Given the description of an element on the screen output the (x, y) to click on. 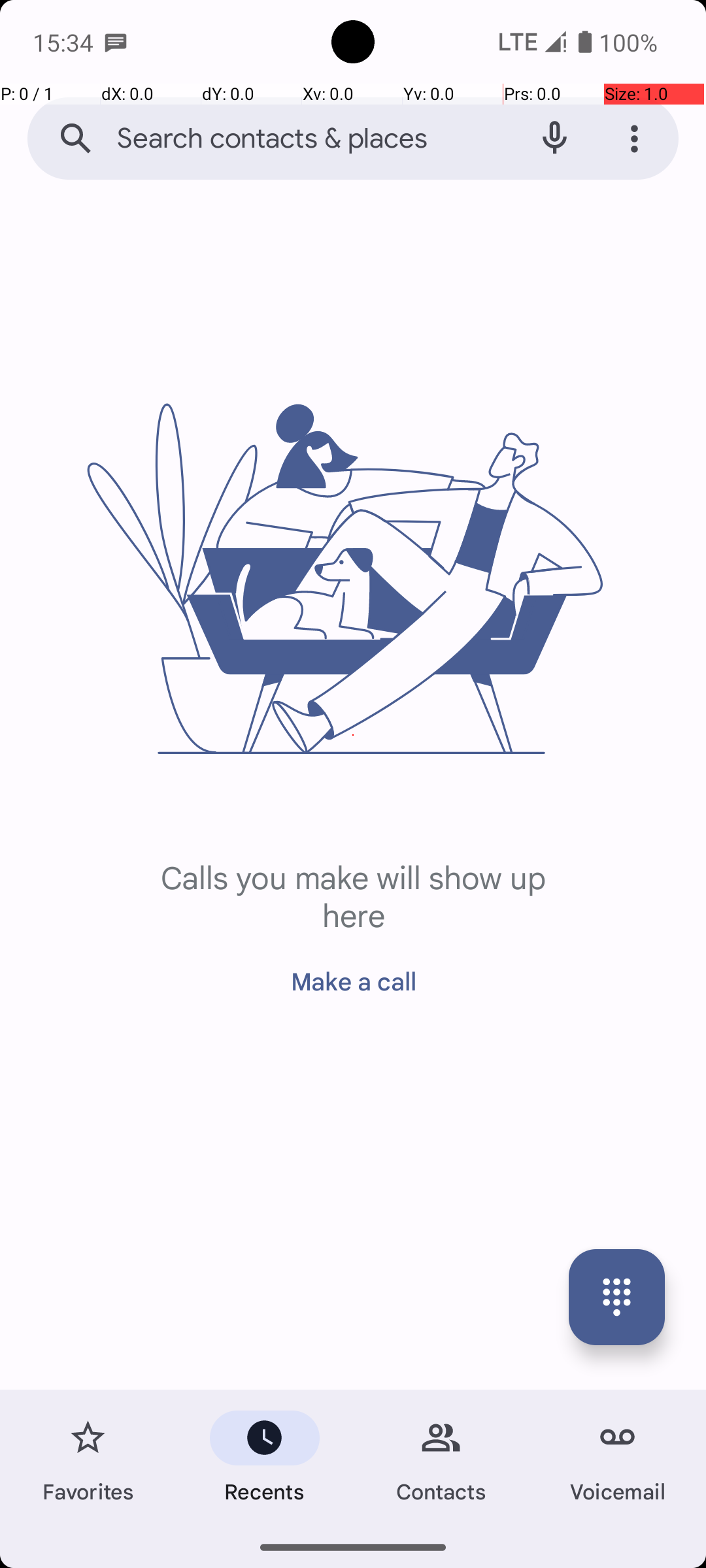
Calls you make will show up here Element type: android.widget.TextView (352, 895)
Make a call Element type: android.widget.TextView (352, 973)
key pad Element type: android.widget.ImageButton (616, 1297)
Voicemail Element type: android.widget.FrameLayout (617, 1457)
